Given the description of an element on the screen output the (x, y) to click on. 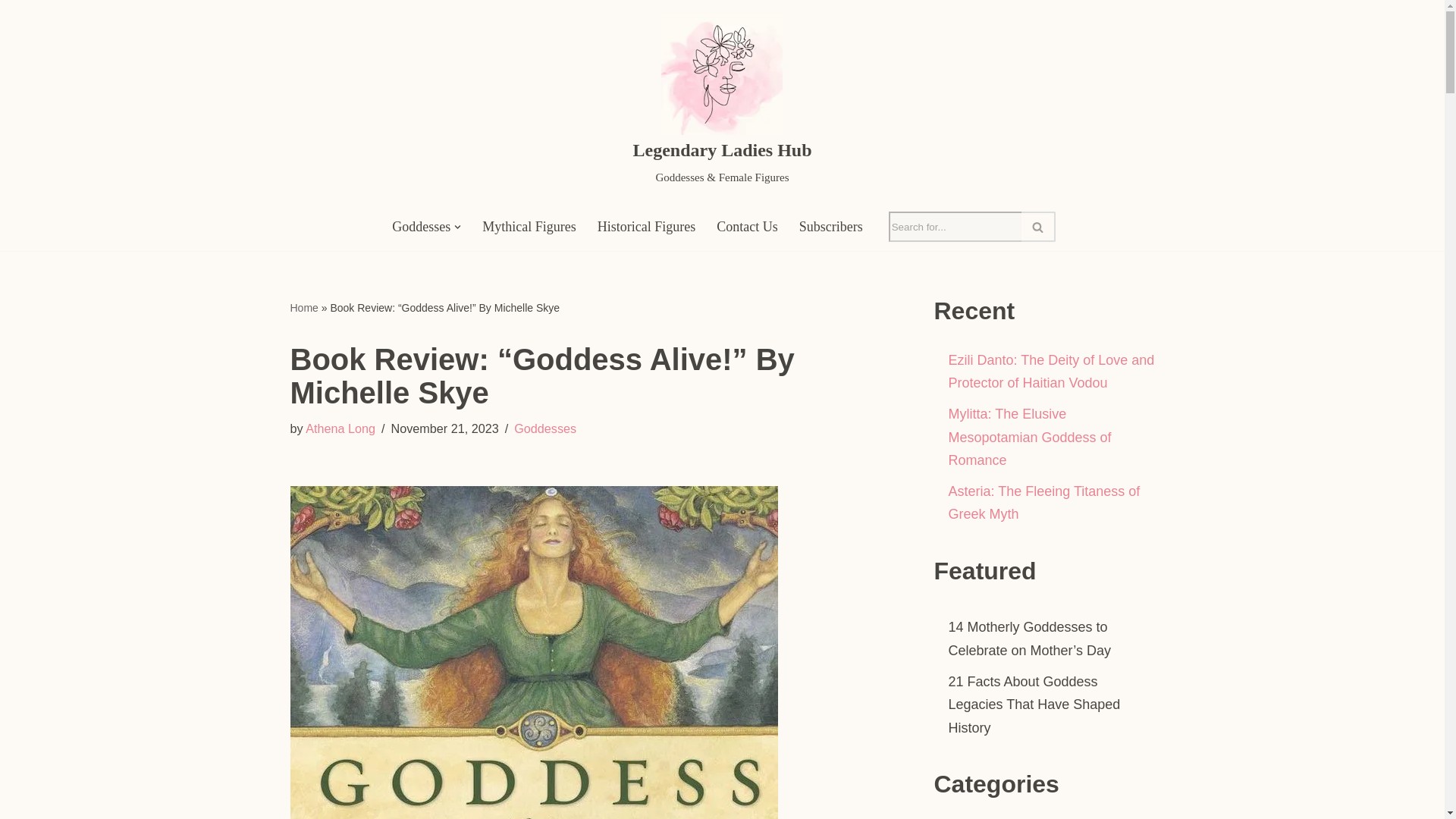
Skip to content (11, 31)
Subscribers (831, 226)
Athena Long (340, 427)
Home (303, 307)
Mythical Figures (528, 226)
Goddesses (544, 427)
Goddesses (420, 226)
Contact Us (746, 226)
Historical Figures (645, 226)
Posts by Athena Long (340, 427)
